Given the description of an element on the screen output the (x, y) to click on. 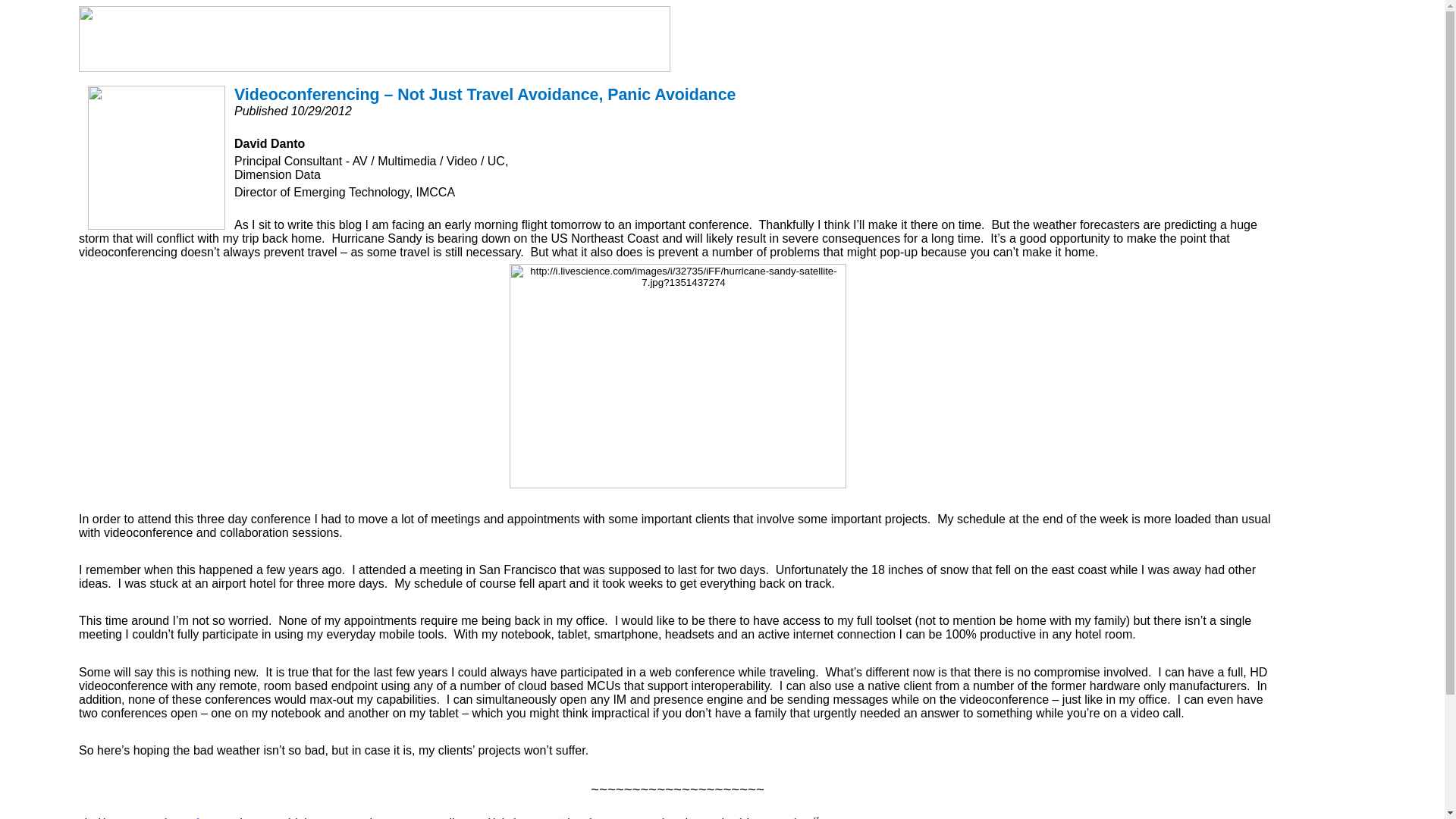
David Danto (200, 816)
